Given the description of an element on the screen output the (x, y) to click on. 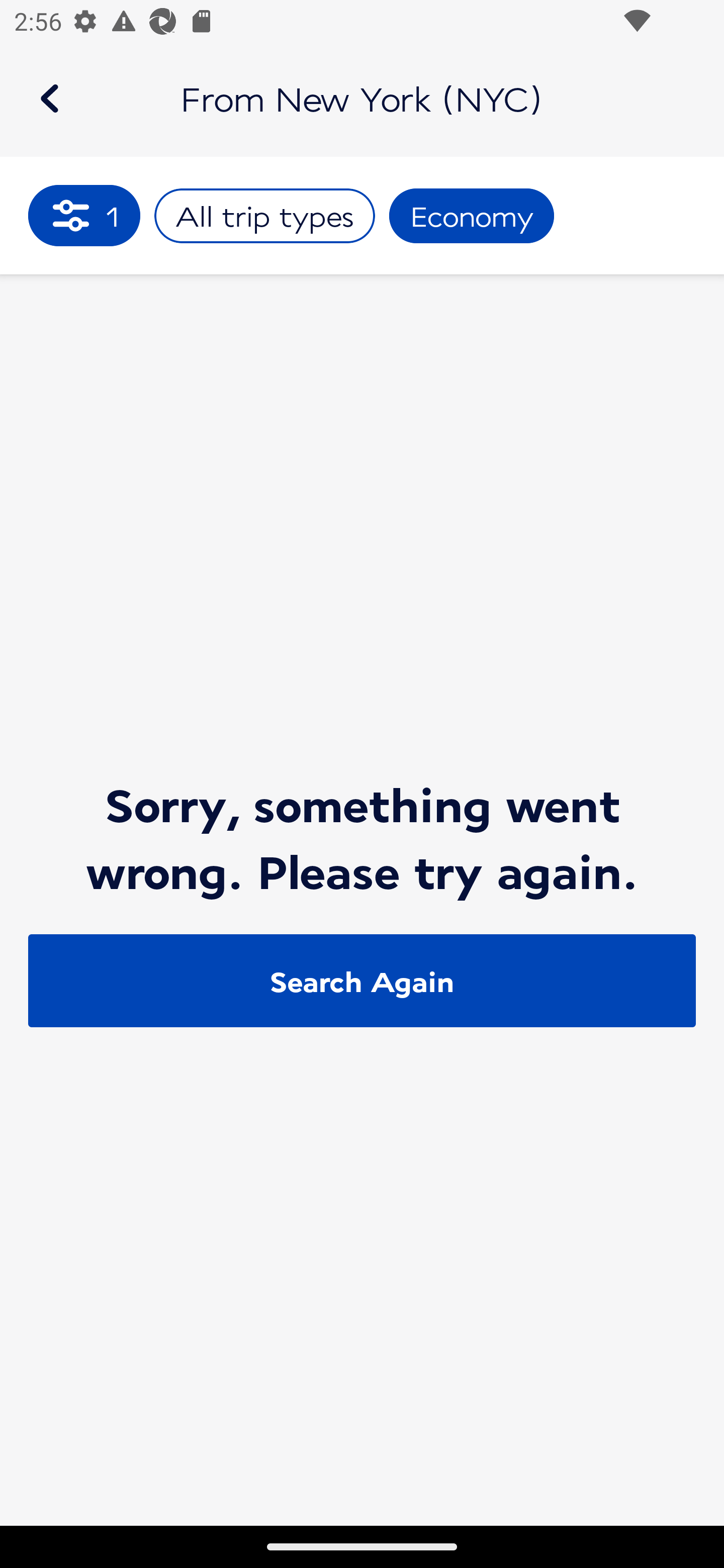
leading 1 (84, 215)
All trip types (264, 216)
Economy (471, 216)
Search Again (361, 980)
